Given the description of an element on the screen output the (x, y) to click on. 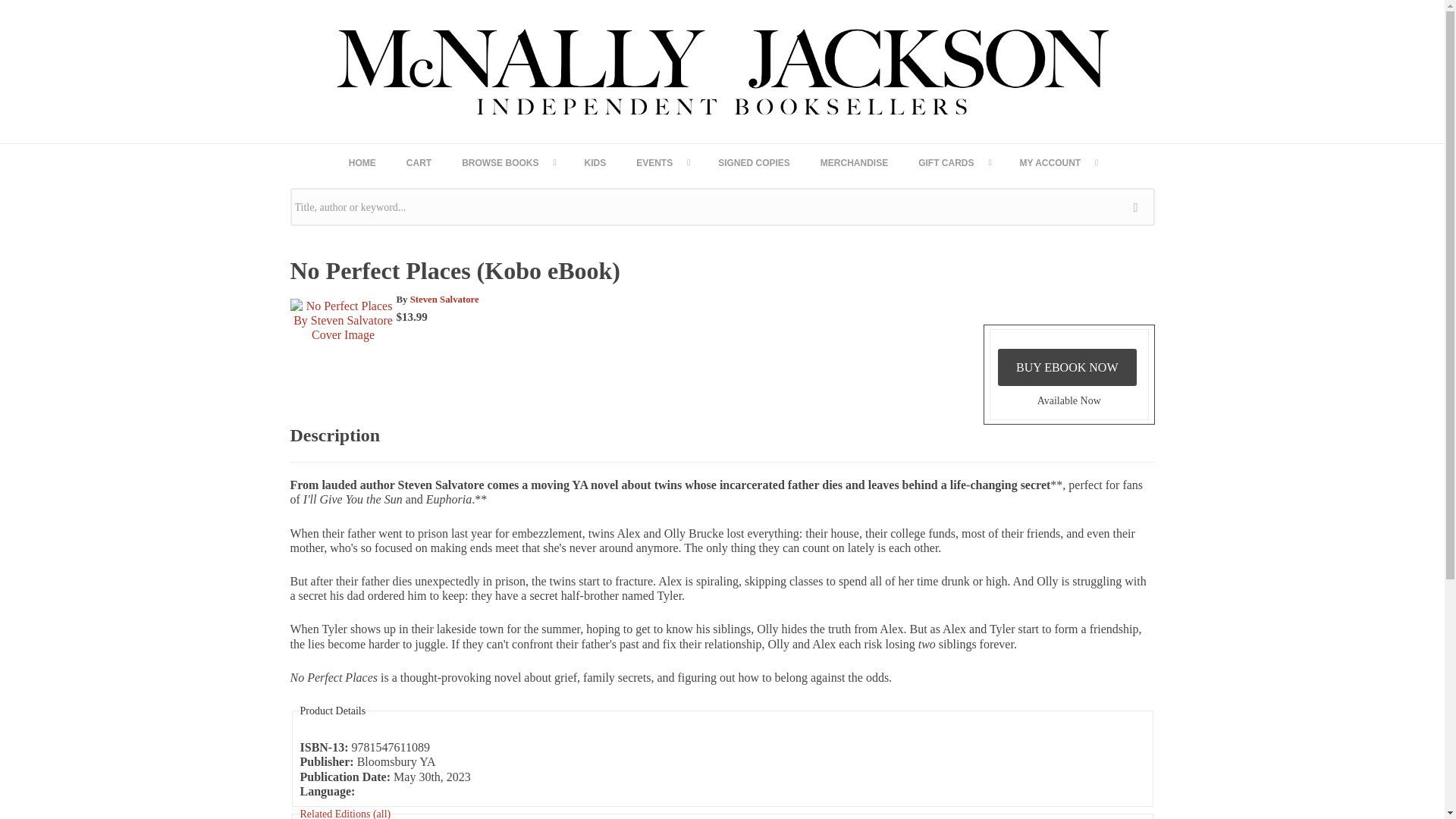
CART (418, 162)
MERCHANDISE (853, 162)
Buy eBook Now (1067, 366)
HOME (362, 162)
Steven Salvatore (444, 299)
GIFT CARDS (953, 162)
SIGNED COPIES (754, 162)
MY ACCOUNT (1058, 162)
Buy eBook Now (1067, 366)
